Given the description of an element on the screen output the (x, y) to click on. 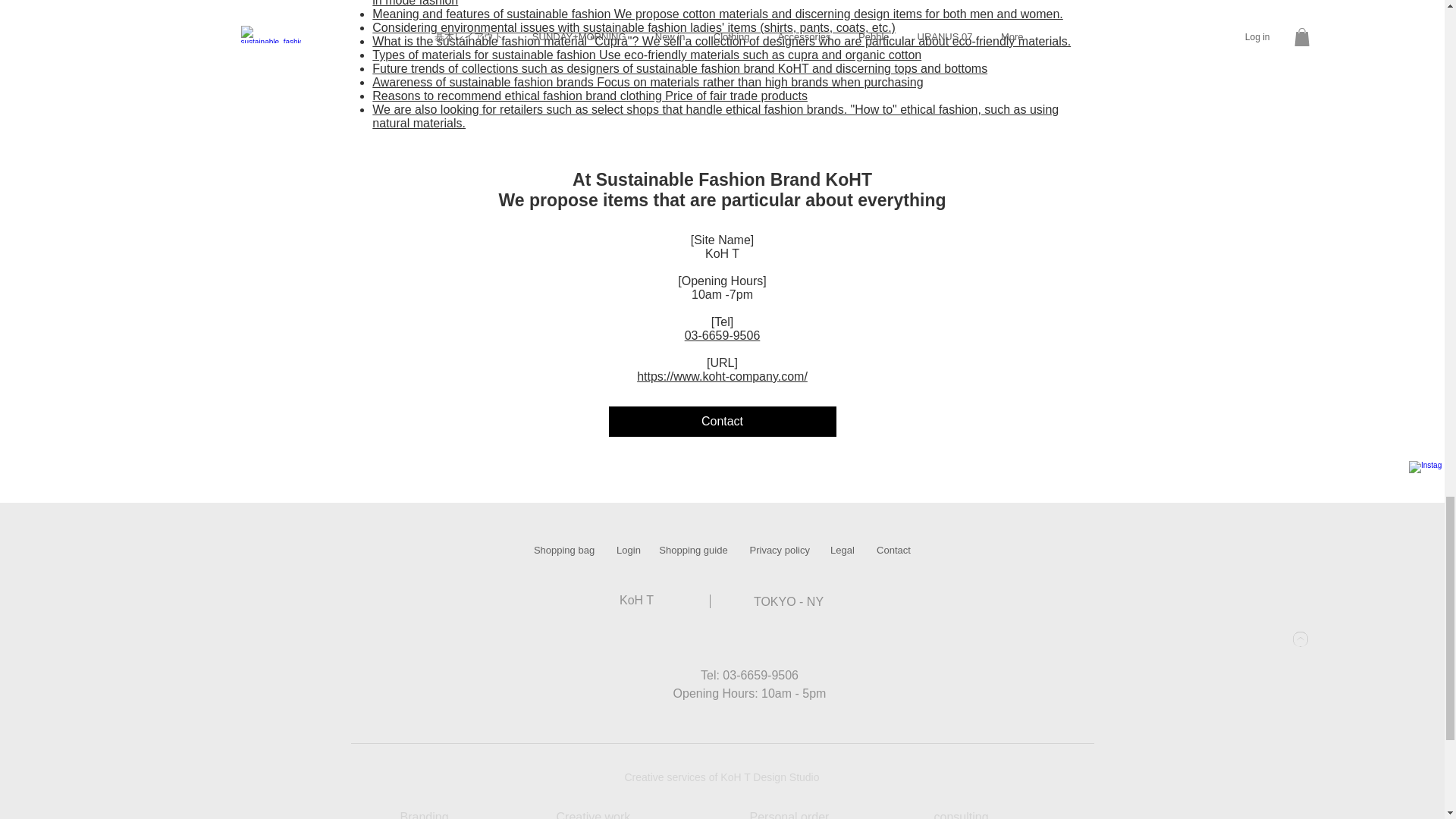
Contact (893, 550)
Privacy policy (779, 550)
Shopping bag (563, 550)
Contact (721, 421)
